Given the description of an element on the screen output the (x, y) to click on. 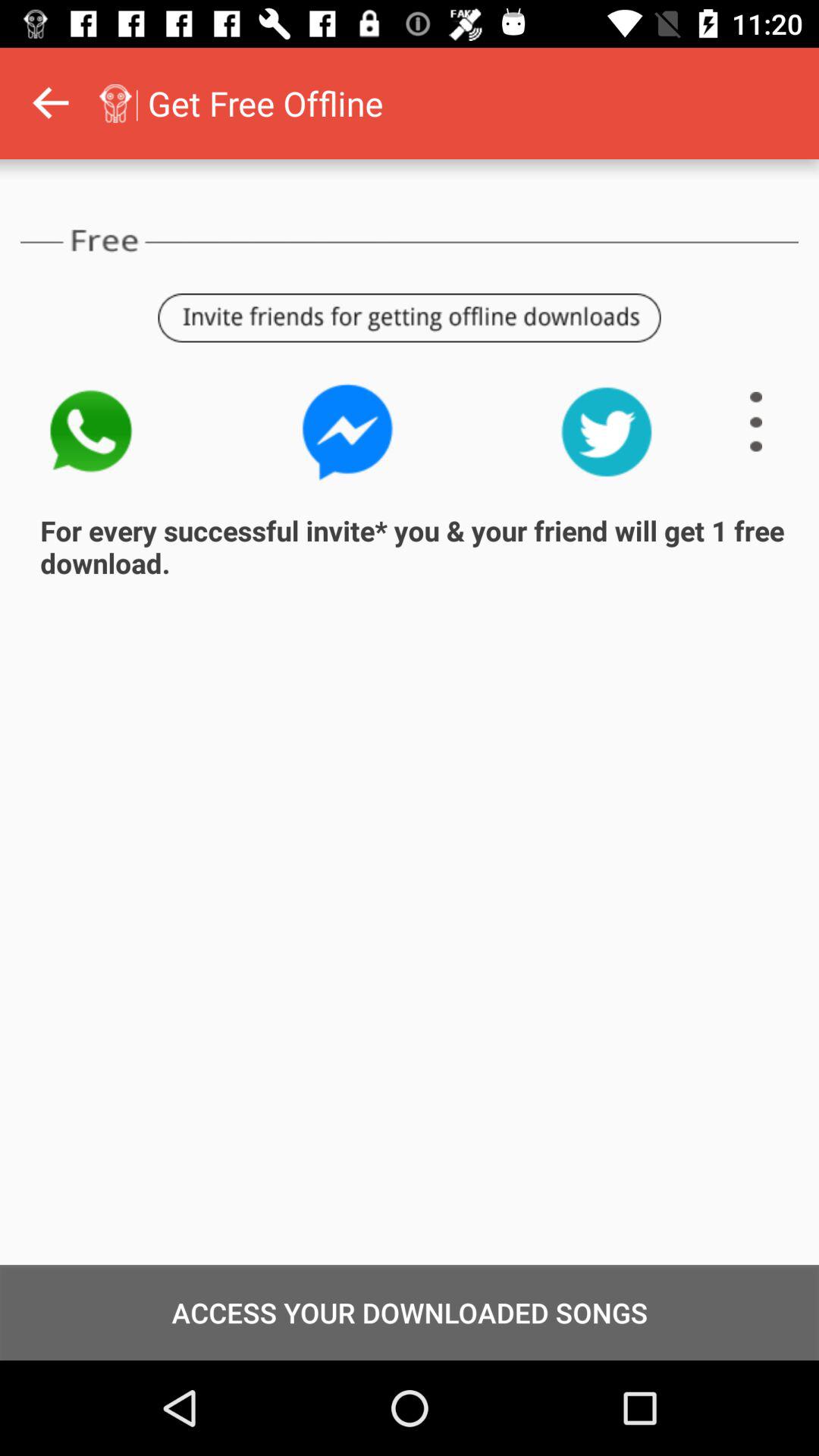
menu button (756, 421)
